Given the description of an element on the screen output the (x, y) to click on. 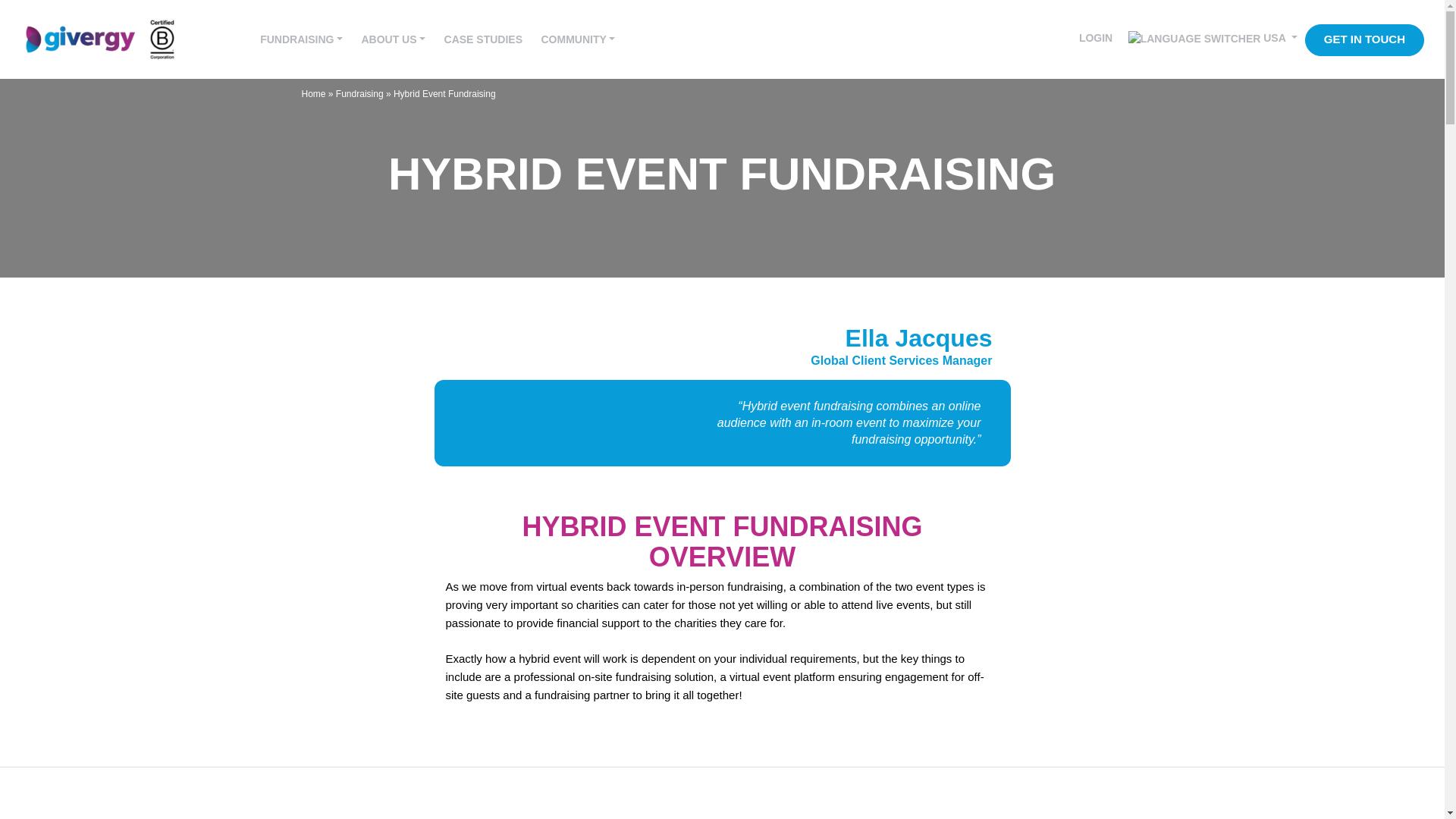
COMMUNITY (577, 39)
ABOUT US (392, 39)
LOGIN (1095, 37)
GET IN TOUCH (1363, 40)
USA (1212, 37)
FUNDRAISING (300, 39)
CASE STUDIES (482, 39)
